Given the description of an element on the screen output the (x, y) to click on. 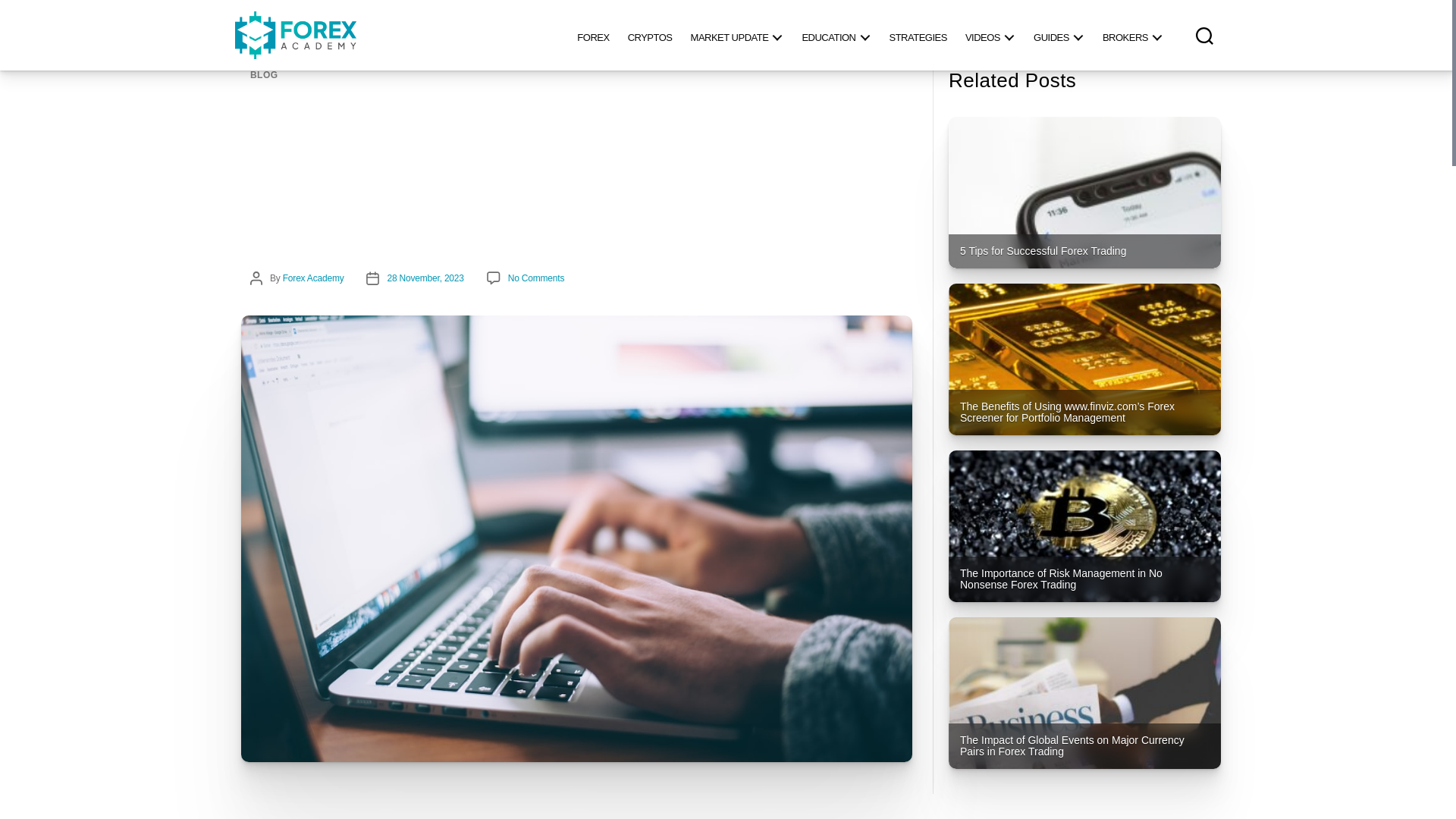
CRYPTOS (649, 35)
VIDEOS (990, 35)
STRATEGIES (917, 35)
FOREX (592, 35)
EDUCATION (835, 35)
GUIDES (1059, 35)
5 Tips for Successful Forex Trading (1085, 192)
MARKET UPDATE (737, 35)
BROKERS (1132, 35)
